Given the description of an element on the screen output the (x, y) to click on. 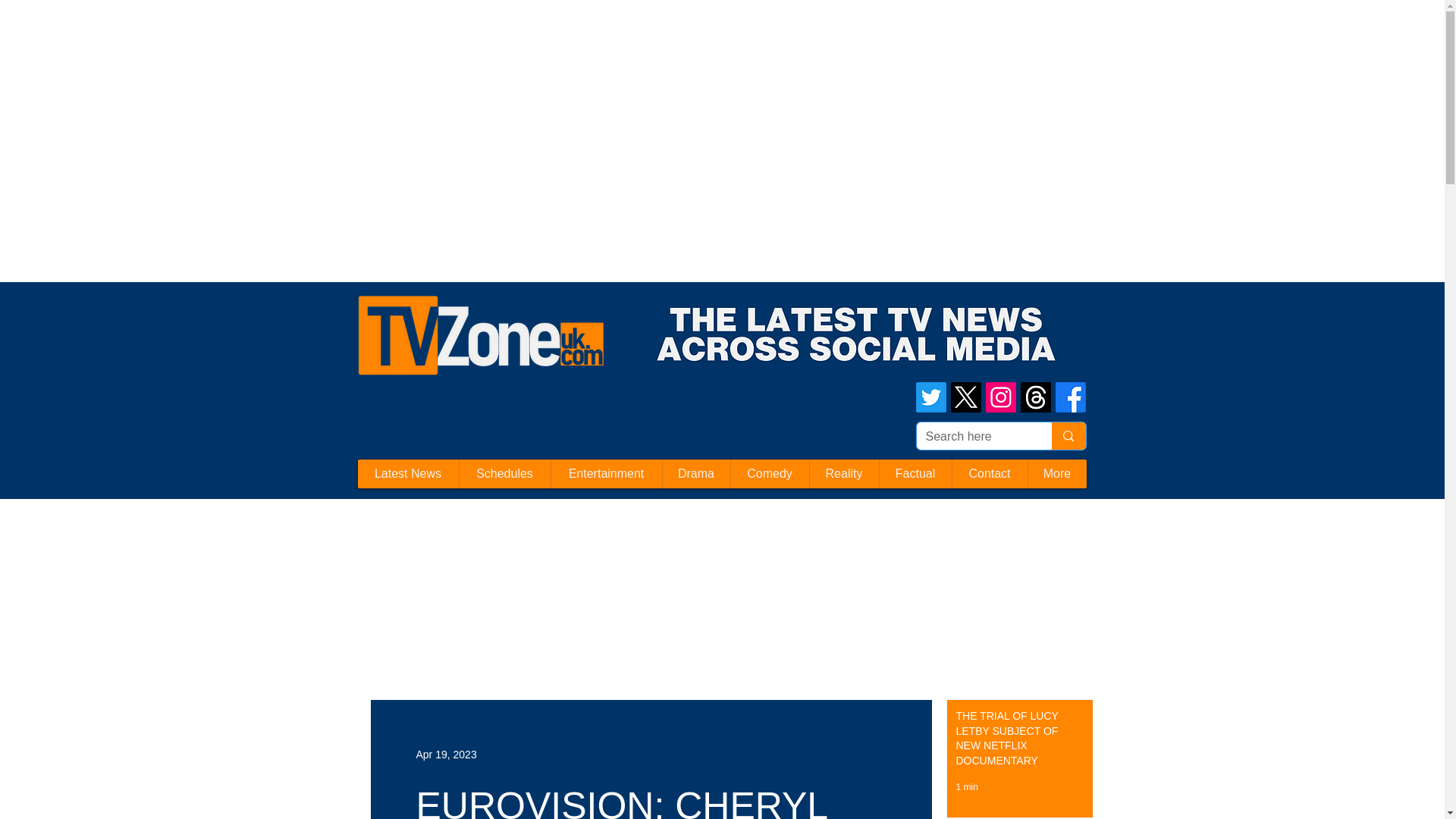
Advertisement (275, 33)
Entertainment (606, 473)
Reality (842, 473)
Contact (988, 473)
Drama (695, 473)
1 min (965, 787)
Schedules (504, 473)
Apr 19, 2023 (445, 753)
Latest News (408, 473)
THE TRIAL OF LUCY LETBY SUBJECT OF NEW NETFLIX DOCUMENTARY (1014, 741)
